Given the description of an element on the screen output the (x, y) to click on. 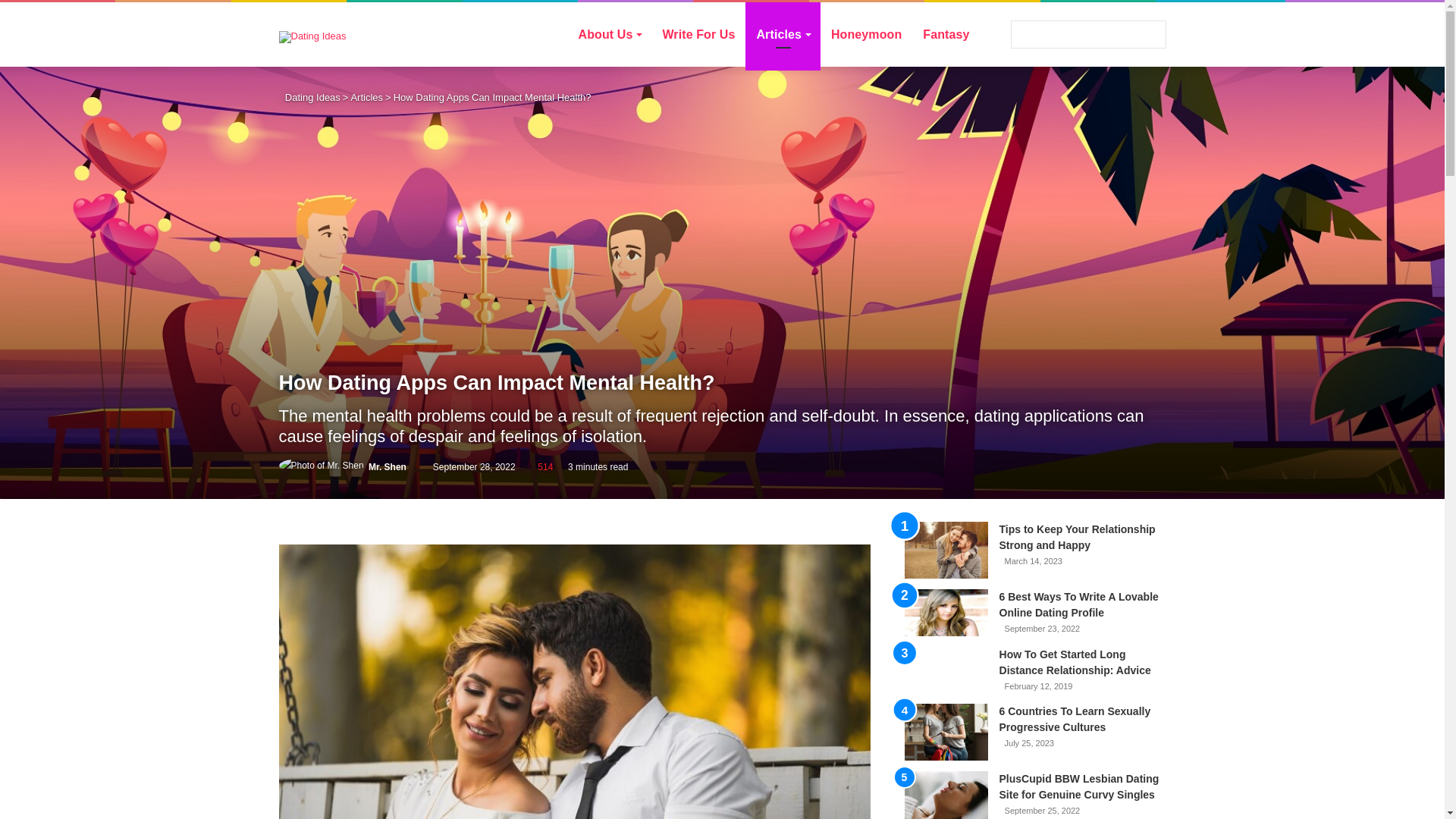
Write For Us (697, 34)
Dating Ideas (1088, 34)
About Us (609, 34)
Fantasy (945, 34)
Mr. Shen (387, 466)
Articles (366, 97)
Articles (783, 34)
Mr. Shen (387, 466)
Dating Ideas (309, 97)
Dating Ideas (312, 36)
Honeymoon (866, 34)
